Given the description of an element on the screen output the (x, y) to click on. 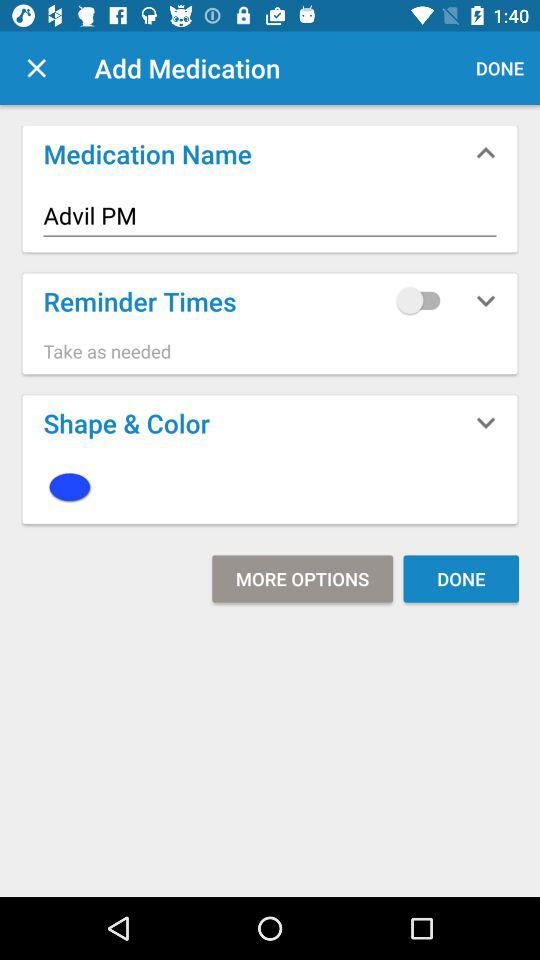
turn on item above the more options item (269, 486)
